Given the description of an element on the screen output the (x, y) to click on. 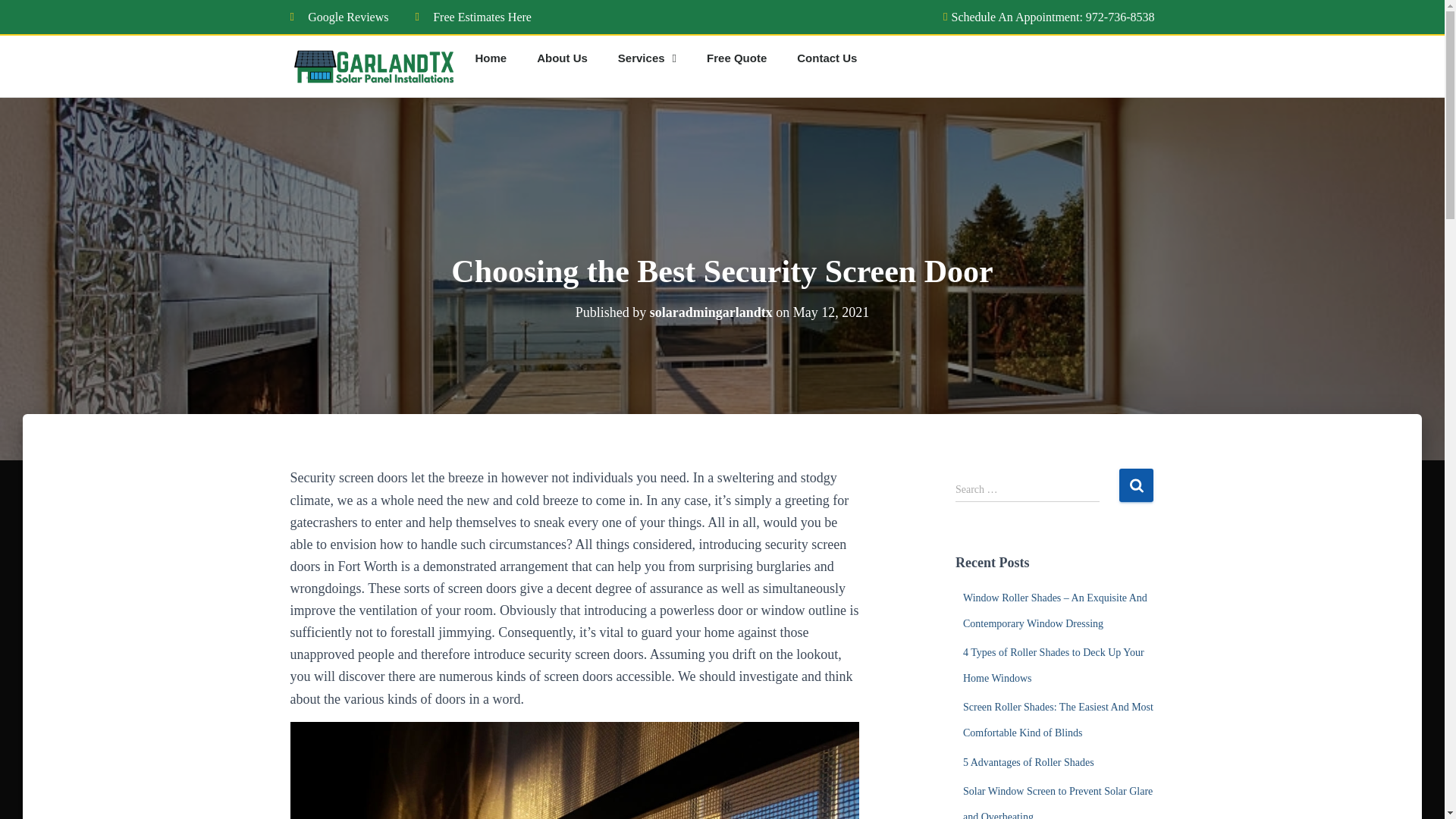
Home (490, 58)
Search (1136, 484)
Contact Us (826, 58)
Free Estimates Here (472, 17)
Google Reviews (338, 17)
Services (646, 58)
4 Types of Roller Shades to Deck Up Your Home Windows (1053, 665)
Free Quote (736, 58)
Search (1136, 484)
Solar Window Screen to Prevent Solar Glare and Overheating (1057, 802)
5 Advantages of Roller Shades (1028, 762)
solaradmingarlandtx (711, 311)
Schedule An Appointment: 972-736-8538 (1043, 17)
Search (1136, 484)
